Given the description of an element on the screen output the (x, y) to click on. 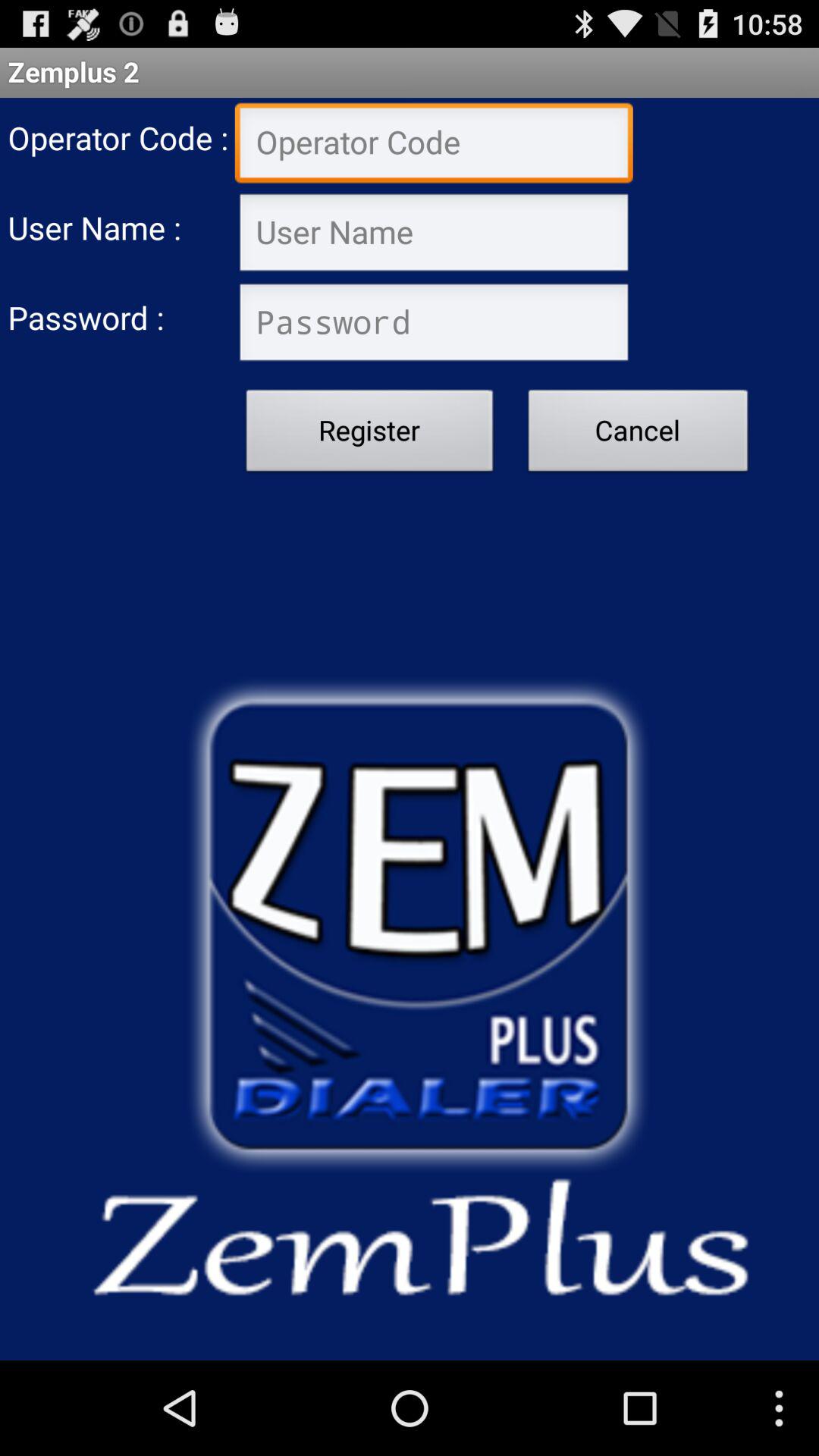
insert operator code (433, 144)
